Given the description of an element on the screen output the (x, y) to click on. 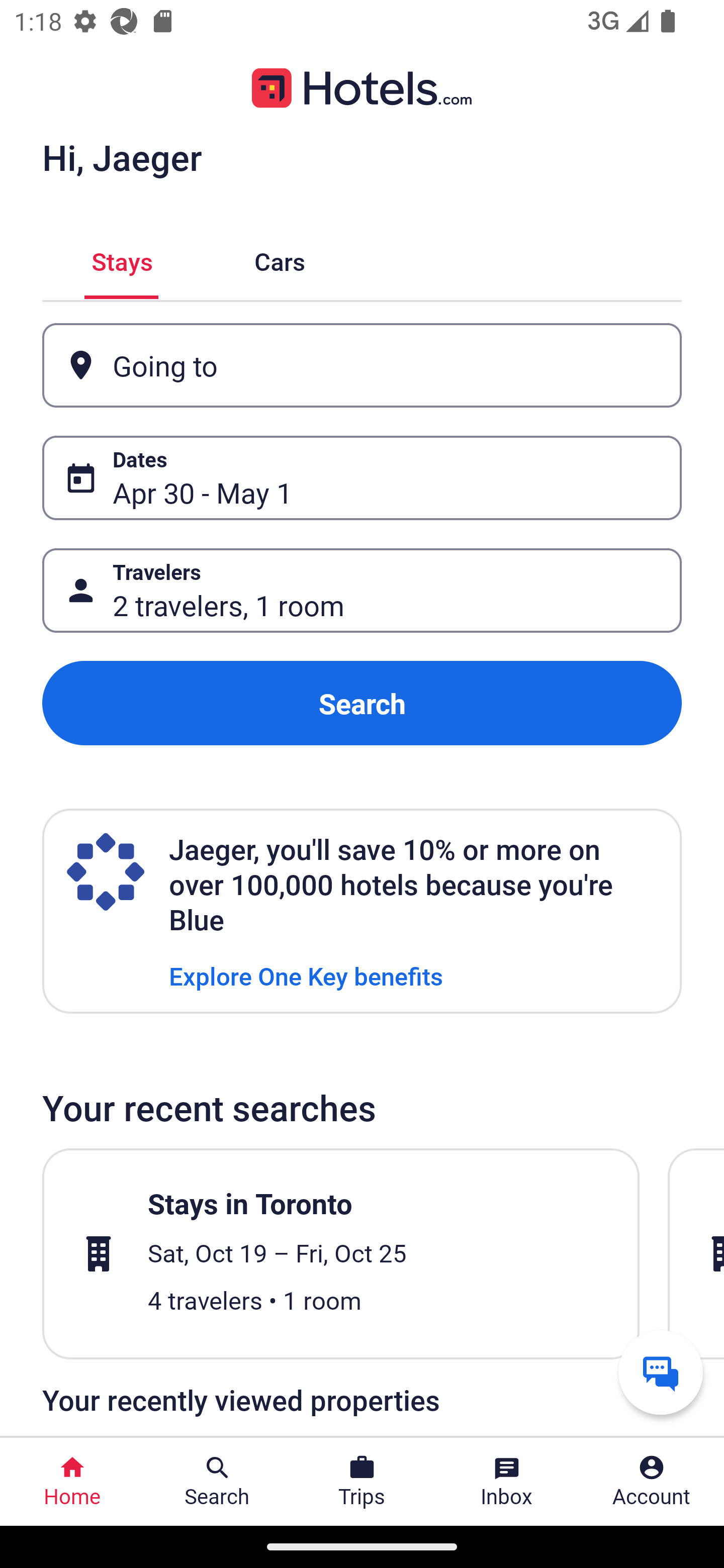
Hi, Jaeger (121, 156)
Cars (279, 259)
Going to Button (361, 365)
Dates Button Apr 30 - May 1 (361, 477)
Travelers Button 2 travelers, 1 room (361, 590)
Search (361, 702)
Get help from a virtual agent (660, 1371)
Search Search Button (216, 1481)
Trips Trips Button (361, 1481)
Inbox Inbox Button (506, 1481)
Account Profile. Button (651, 1481)
